Given the description of an element on the screen output the (x, y) to click on. 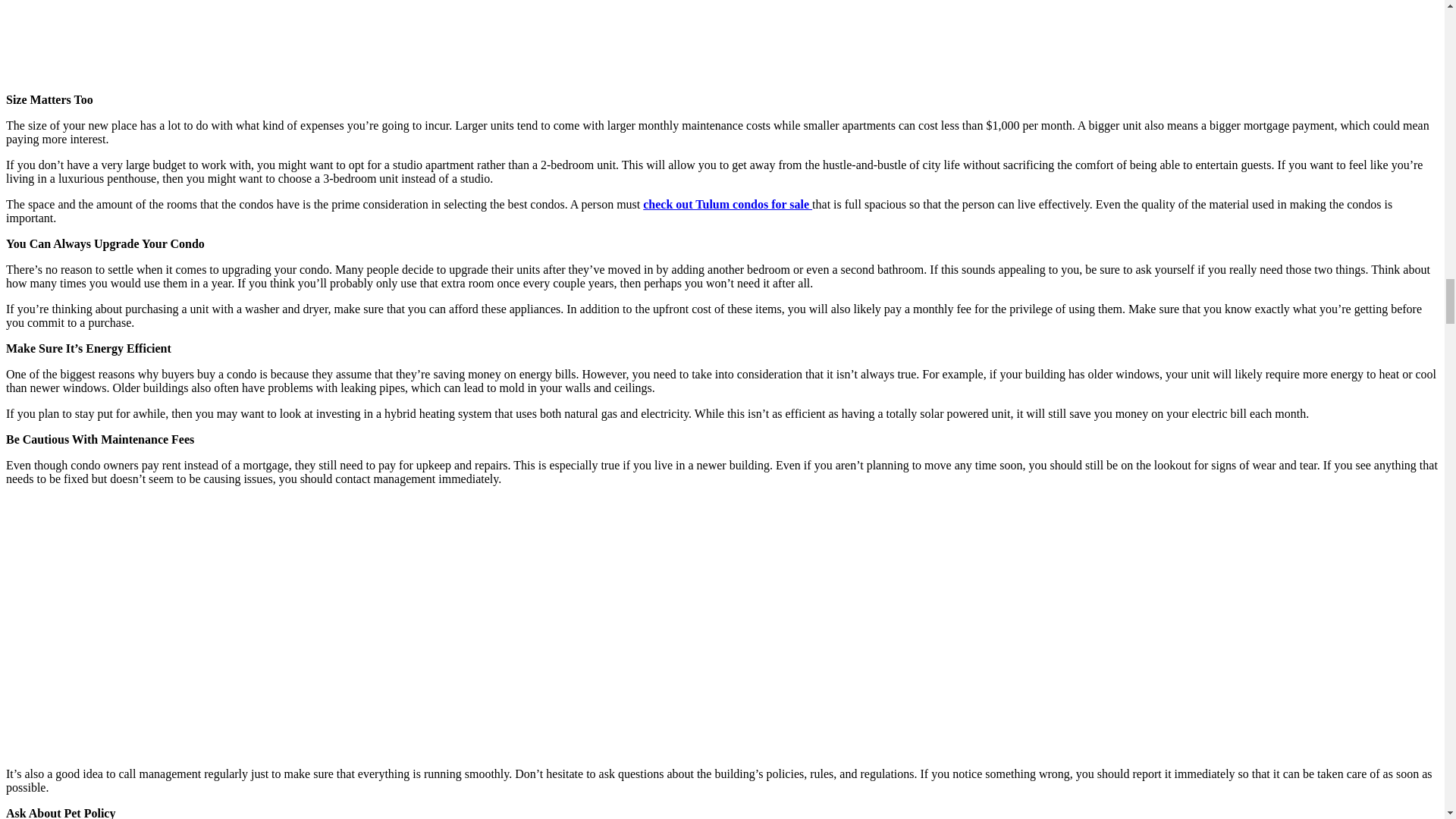
check out Tulum condos for sale (727, 204)
